Given the description of an element on the screen output the (x, y) to click on. 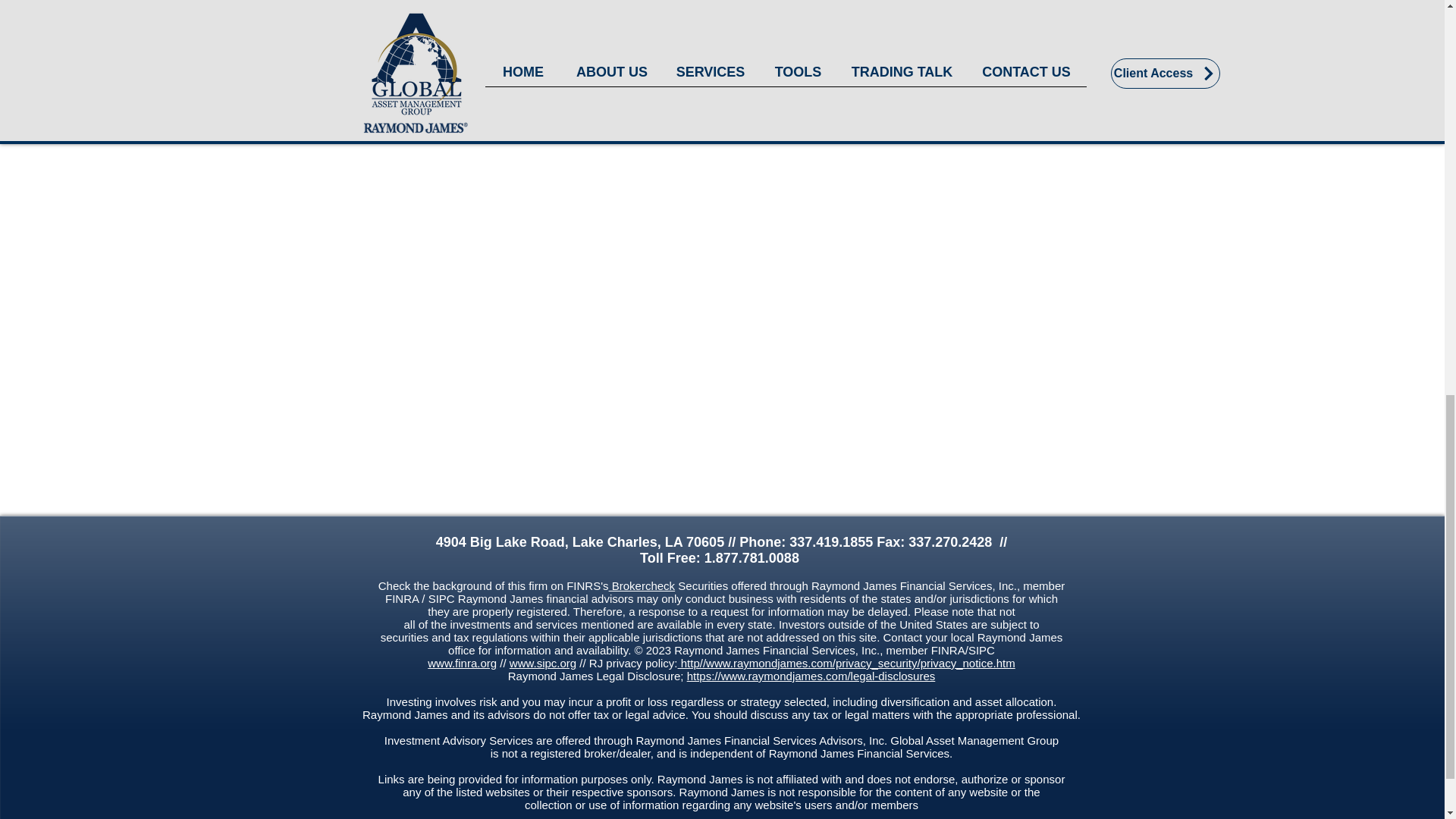
Brokercheck (641, 585)
www.sipc.org (542, 662)
www.finra.org (462, 662)
